Given the description of an element on the screen output the (x, y) to click on. 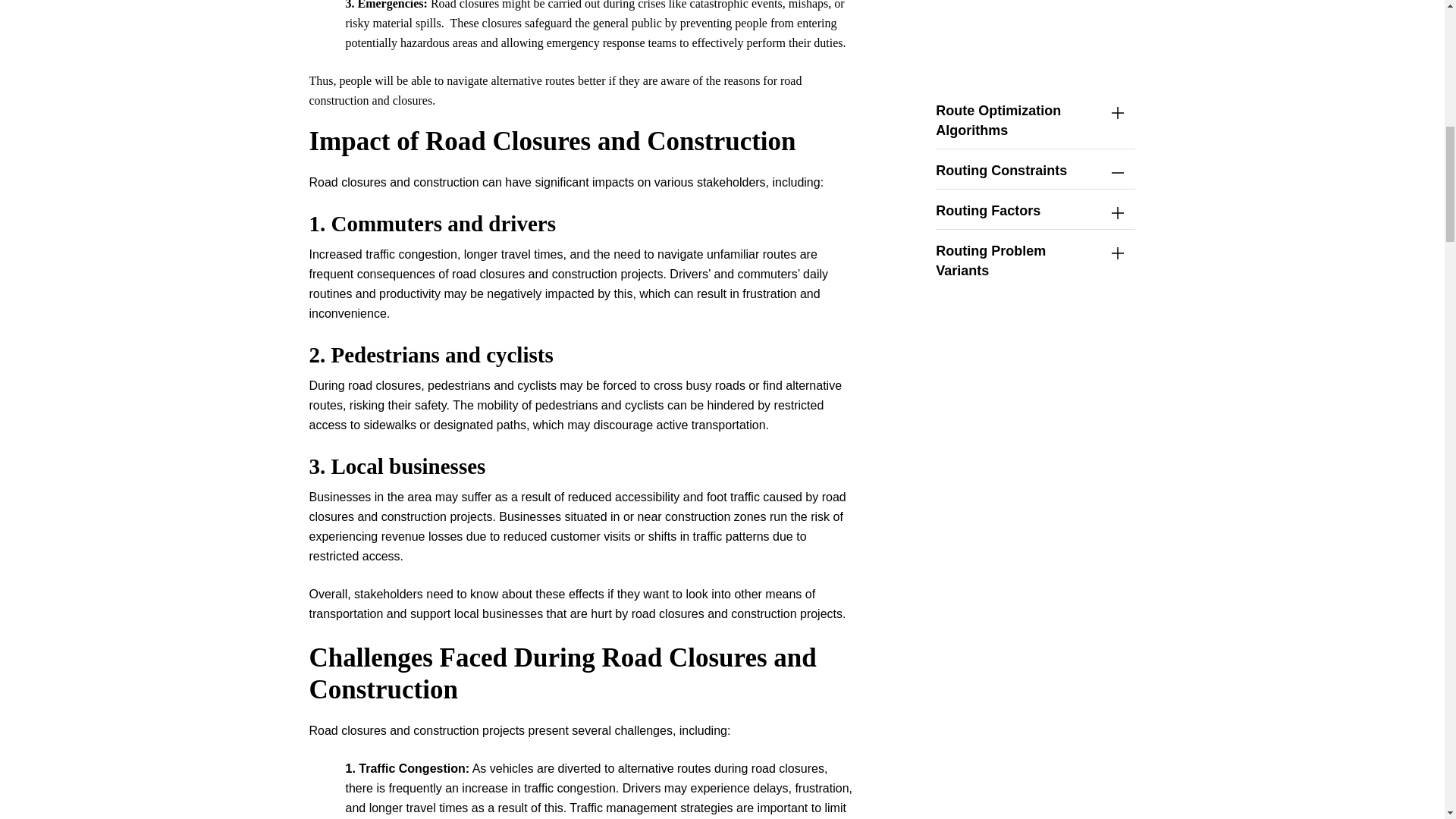
Scroll back to top (1403, 644)
